Given the description of an element on the screen output the (x, y) to click on. 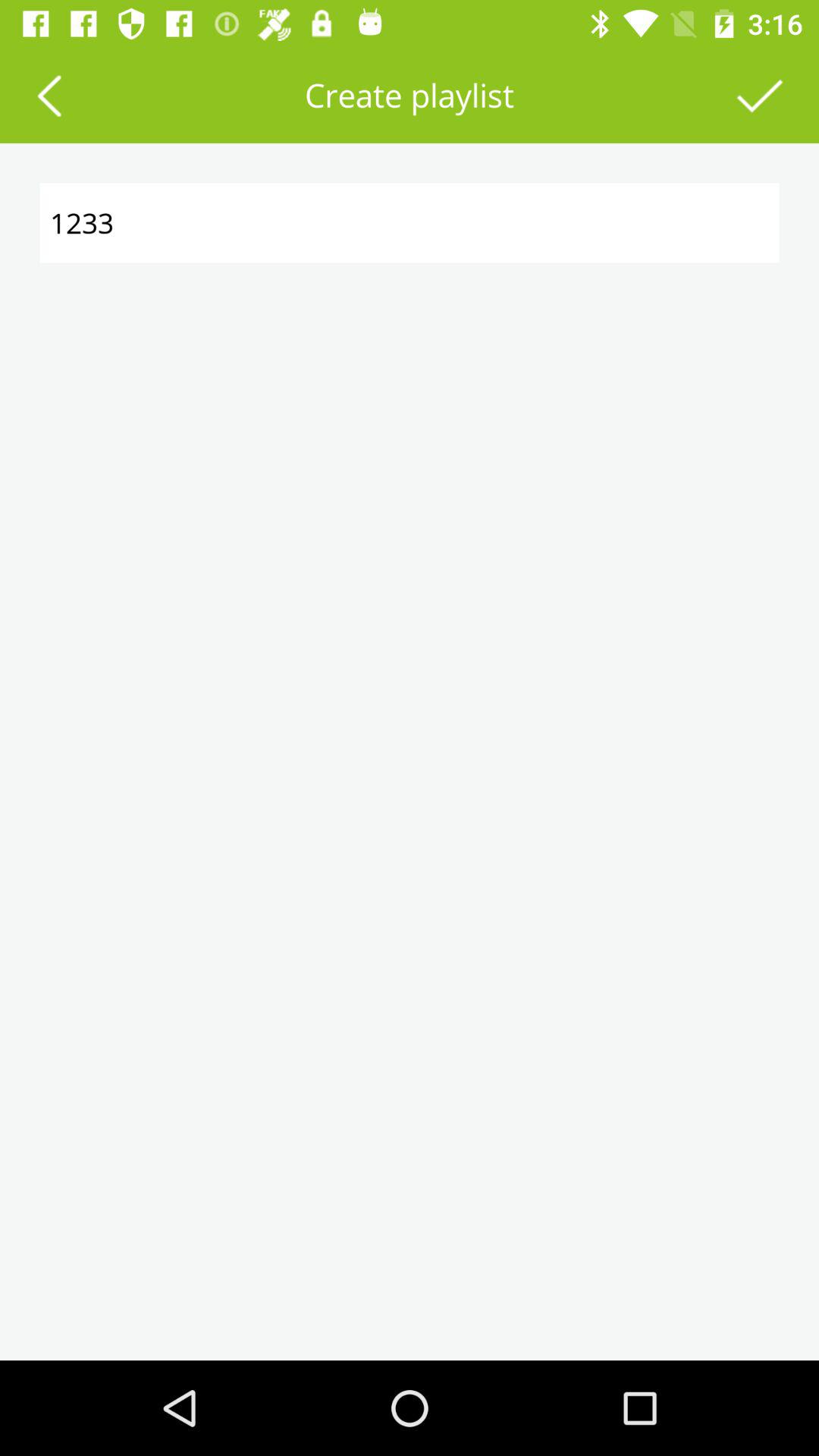
go back (48, 95)
